Given the description of an element on the screen output the (x, y) to click on. 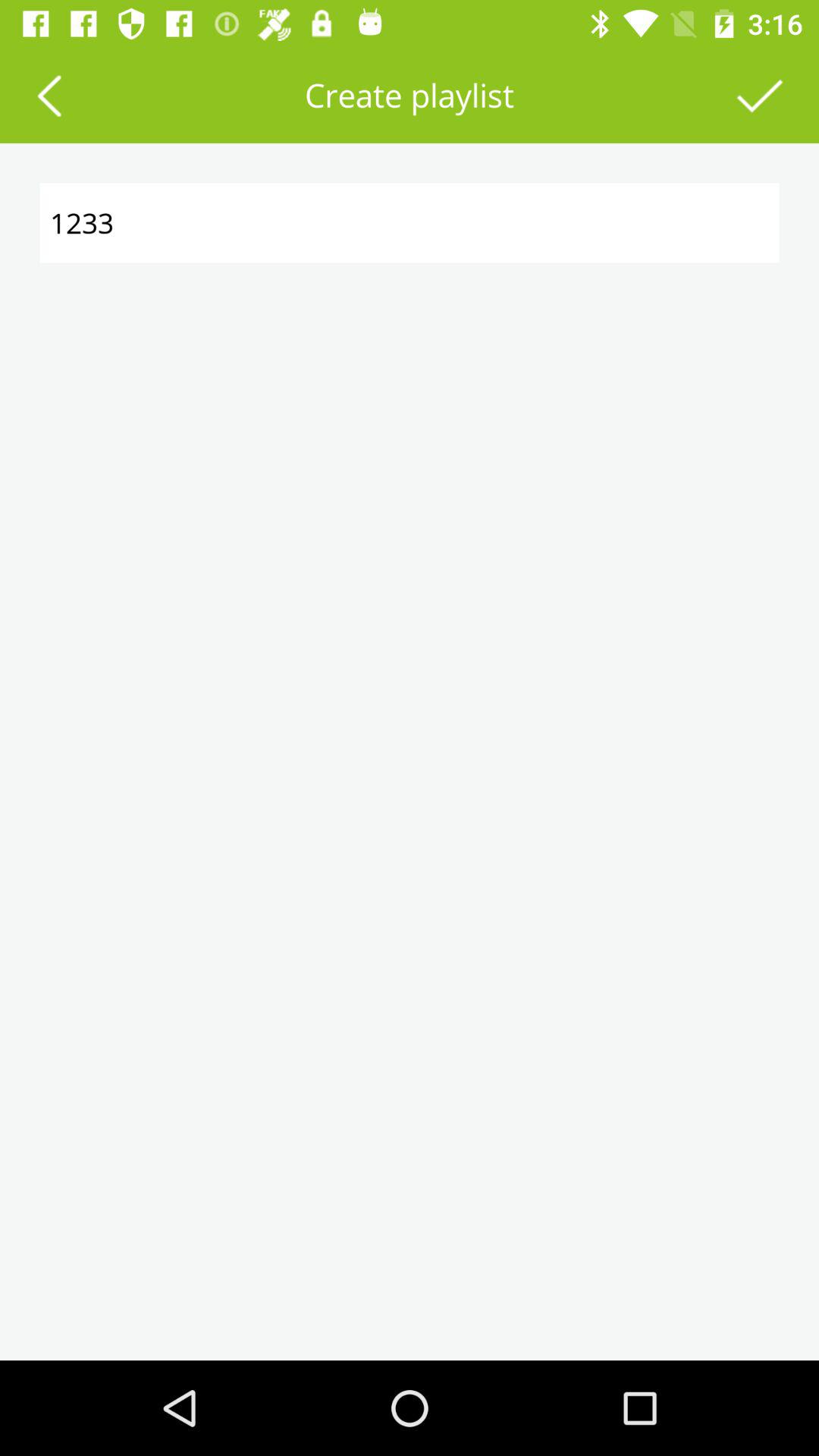
go back (48, 95)
